Given the description of an element on the screen output the (x, y) to click on. 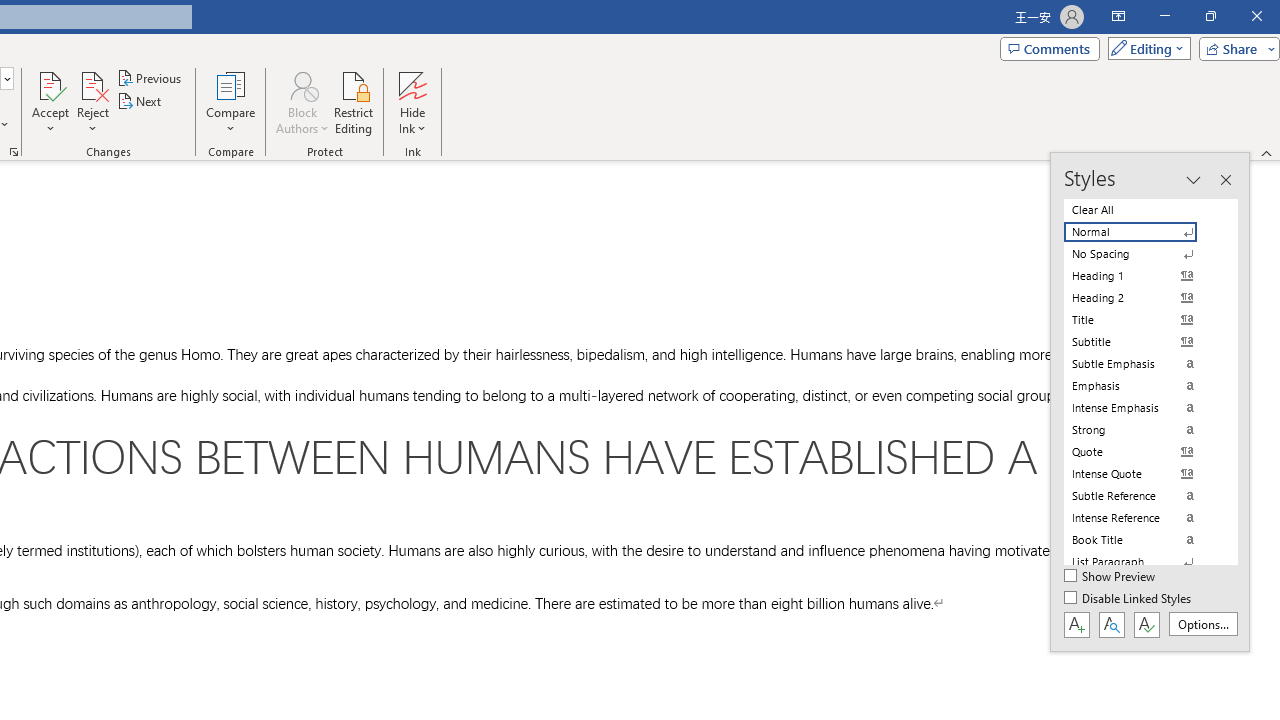
Strong (1142, 429)
Compare (230, 102)
Intense Reference (1142, 517)
Normal (1142, 232)
Intense Quote (1142, 473)
Hide Ink (412, 102)
Heading 1 (1142, 275)
Show Preview (1110, 577)
Previous (150, 78)
Block Authors (302, 84)
